Given the description of an element on the screen output the (x, y) to click on. 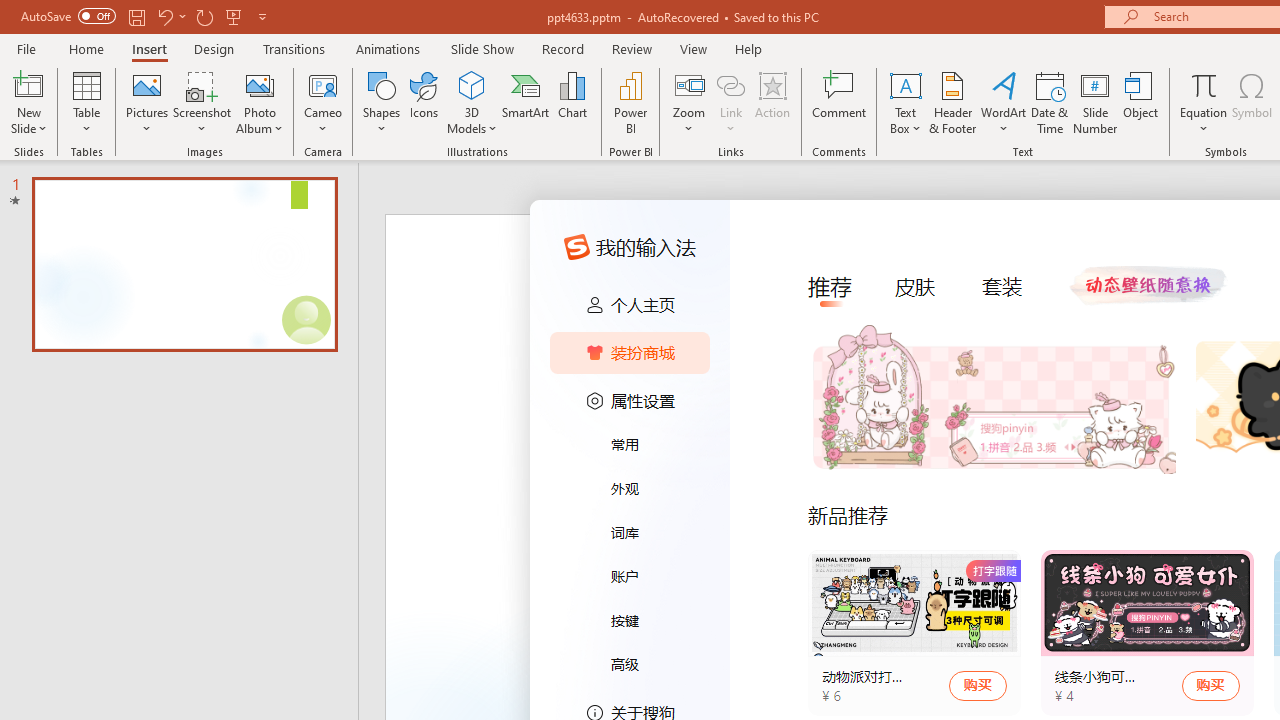
Icons (424, 102)
Action (772, 102)
SmartArt... (525, 102)
Comment (839, 102)
Power BI (630, 102)
Equation (1203, 84)
